Given the description of an element on the screen output the (x, y) to click on. 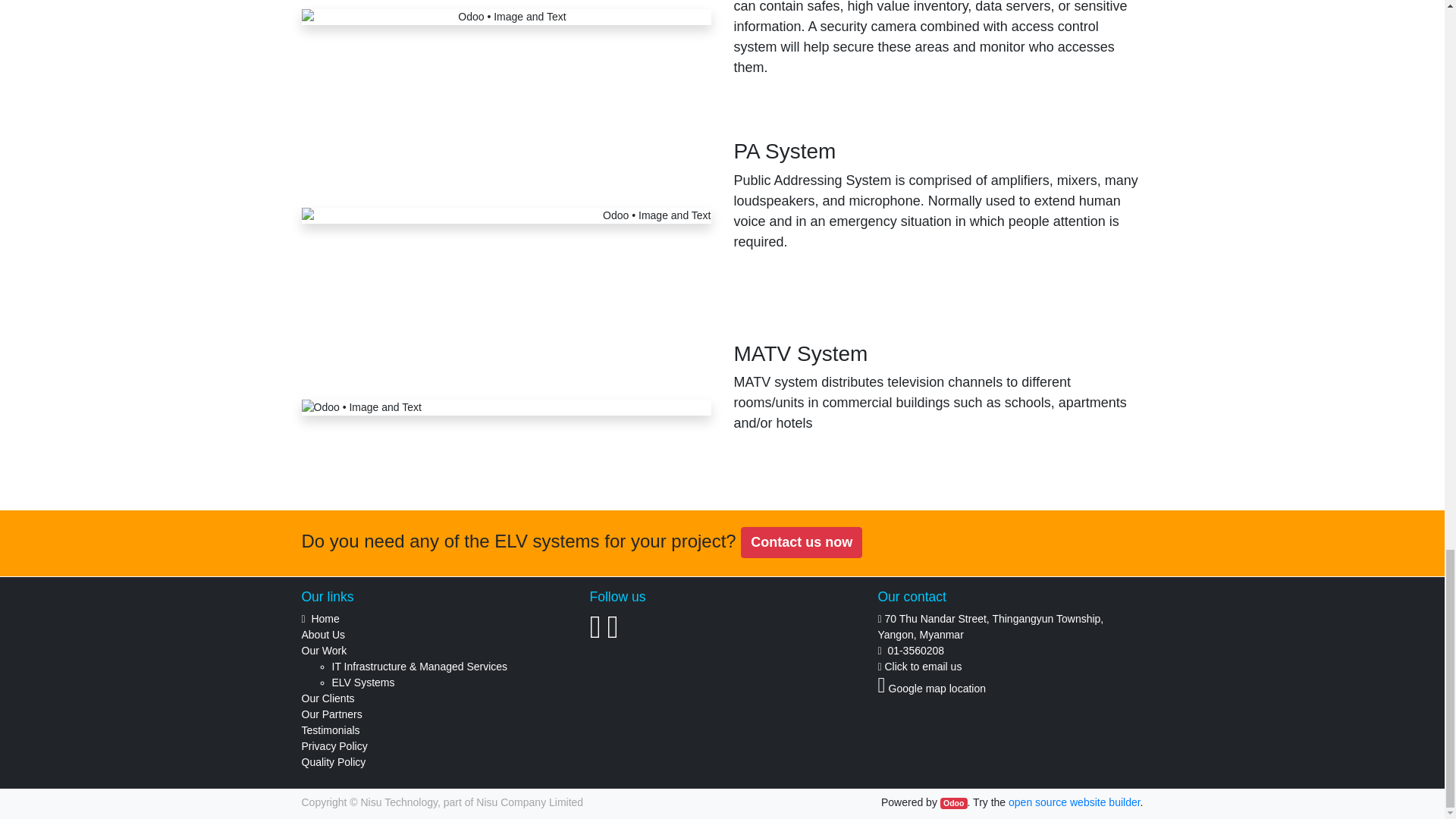
Quality Policy (333, 761)
Contact us now (801, 542)
Google map location (936, 688)
open source website builder (1074, 802)
About Us (323, 634)
Testimonials (330, 729)
Our Partners (331, 714)
ELV Systems (362, 682)
Privacy Policy (334, 746)
Our Clients (328, 698)
Click to email us (921, 666)
Home (325, 618)
Odoo (954, 803)
